Given the description of an element on the screen output the (x, y) to click on. 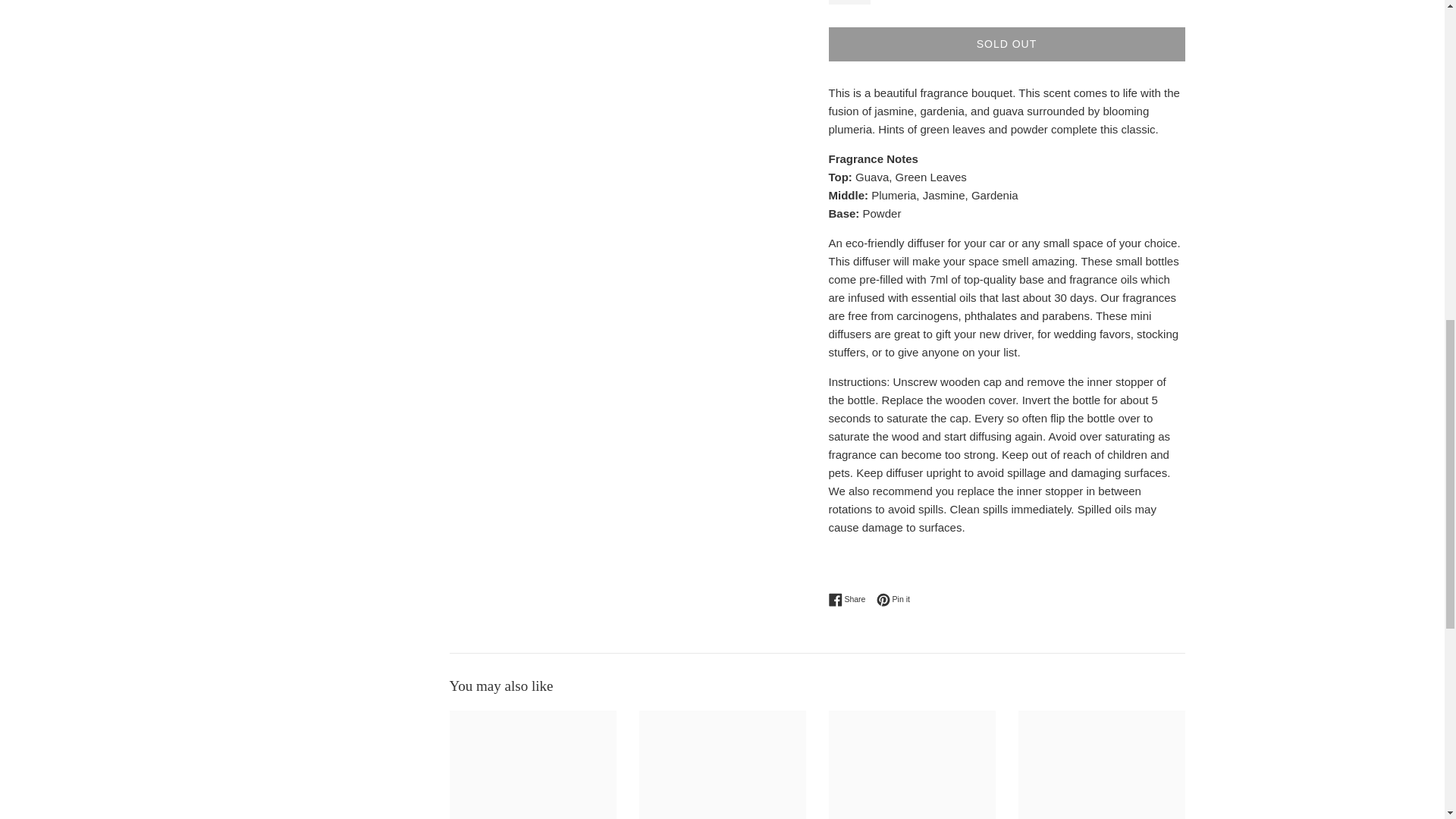
Pin on Pinterest (850, 599)
Share on Facebook (893, 599)
high tide vent clip car diffuser (850, 599)
SOLD OUT (893, 599)
1 (722, 764)
coconut and bamboo skull car diffuser (1006, 44)
lollipop car diffuser (848, 2)
pumpkin chai skull car diffuser (911, 764)
